Given the description of an element on the screen output the (x, y) to click on. 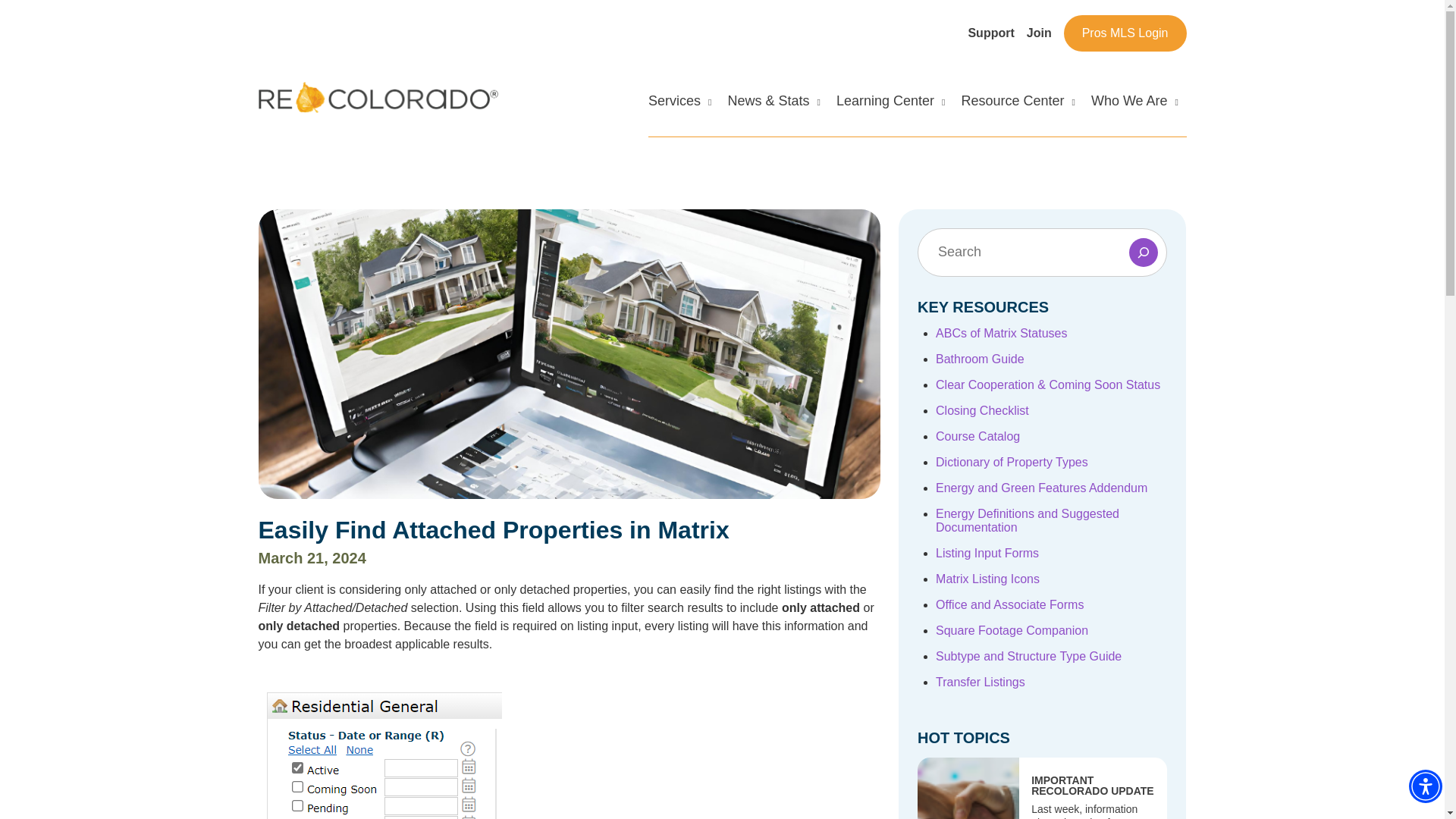
Support (990, 32)
REcolorado (309, 91)
Pros MLS Login (1125, 33)
Resource Center (1017, 114)
Join (1038, 32)
Accessibility Menu (1425, 786)
Learning Center (889, 114)
Services (679, 114)
